Given the description of an element on the screen output the (x, y) to click on. 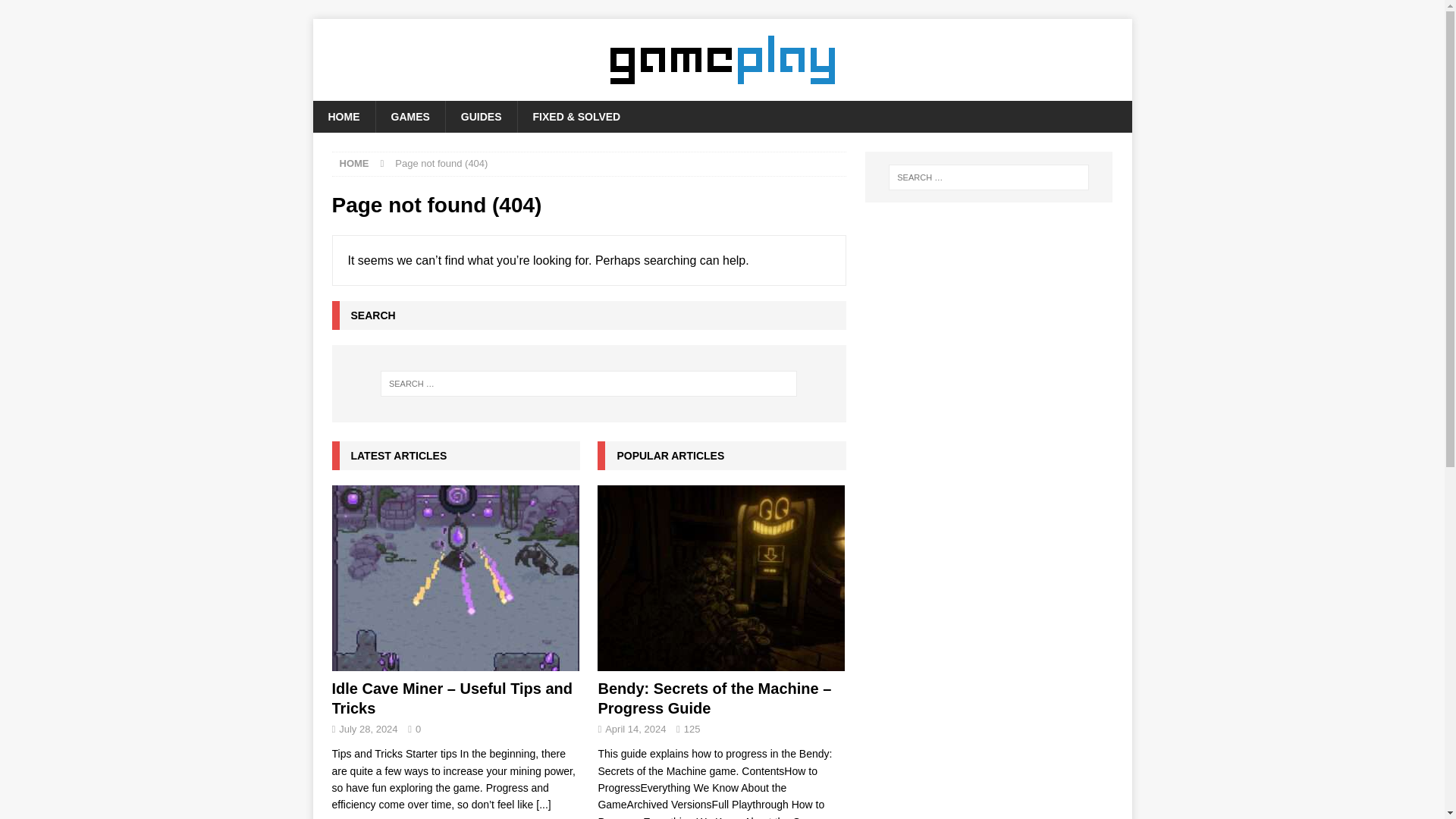
125 (692, 728)
GAMES (409, 116)
0 (417, 728)
GUIDES (480, 116)
HOME (343, 116)
July 28, 2024 (368, 728)
Search (56, 11)
HOME (354, 163)
April 14, 2024 (635, 728)
